Given the description of an element on the screen output the (x, y) to click on. 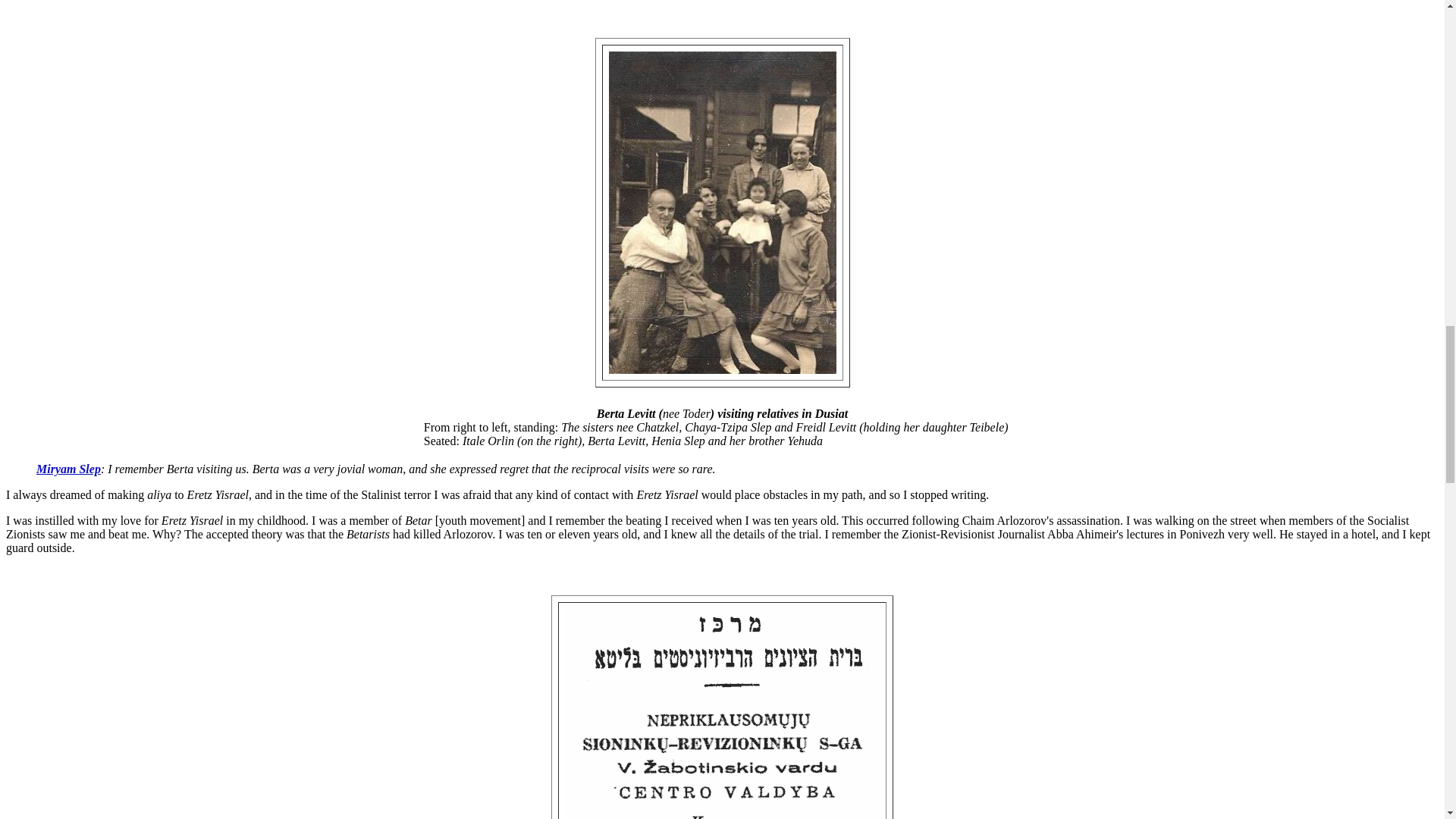
Miryam Slep (68, 468)
